Given the description of an element on the screen output the (x, y) to click on. 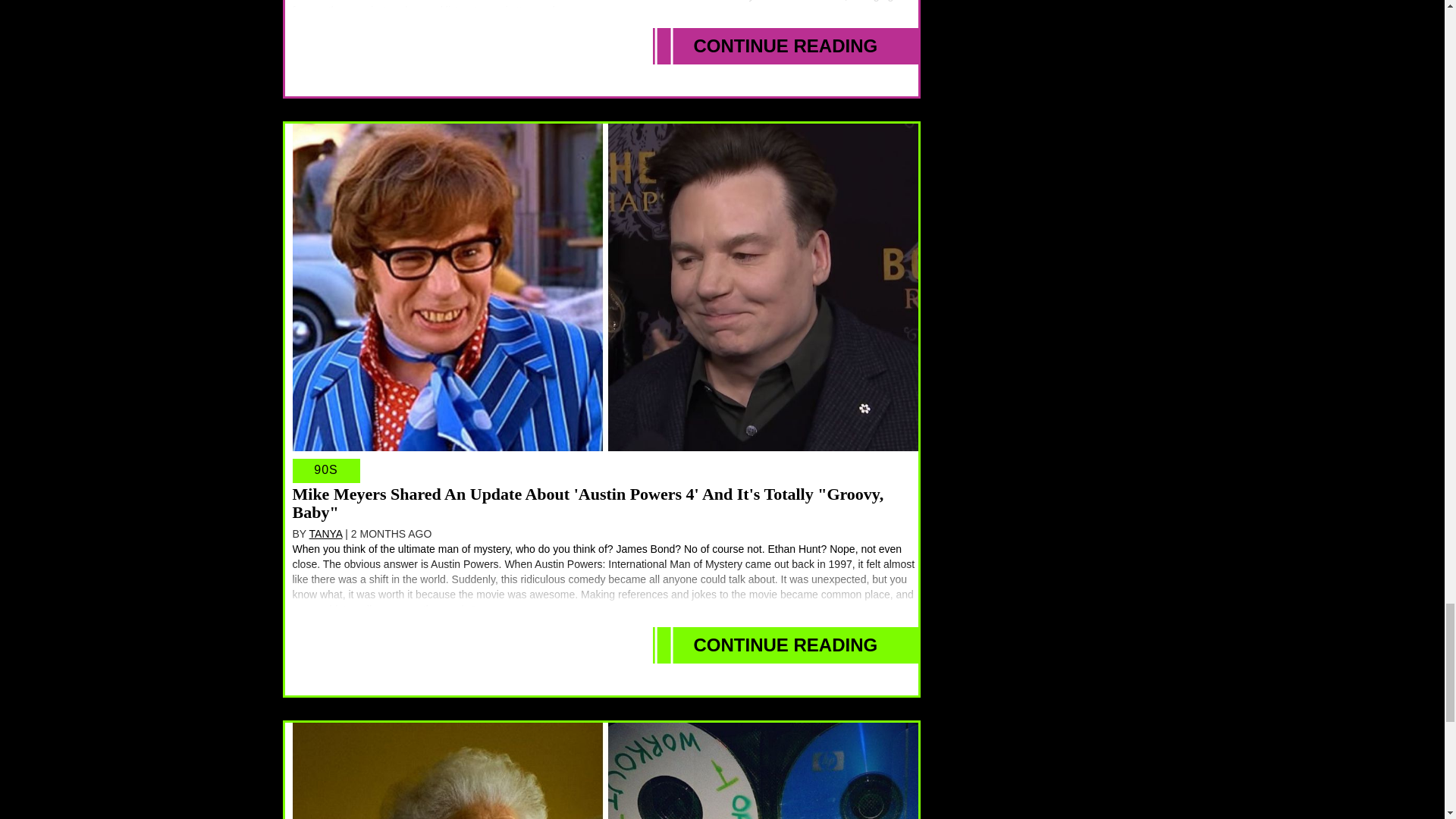
CONTINUE READING (785, 45)
90S (325, 470)
Tanya's Profile (325, 533)
TANYA (325, 533)
